Given the description of an element on the screen output the (x, y) to click on. 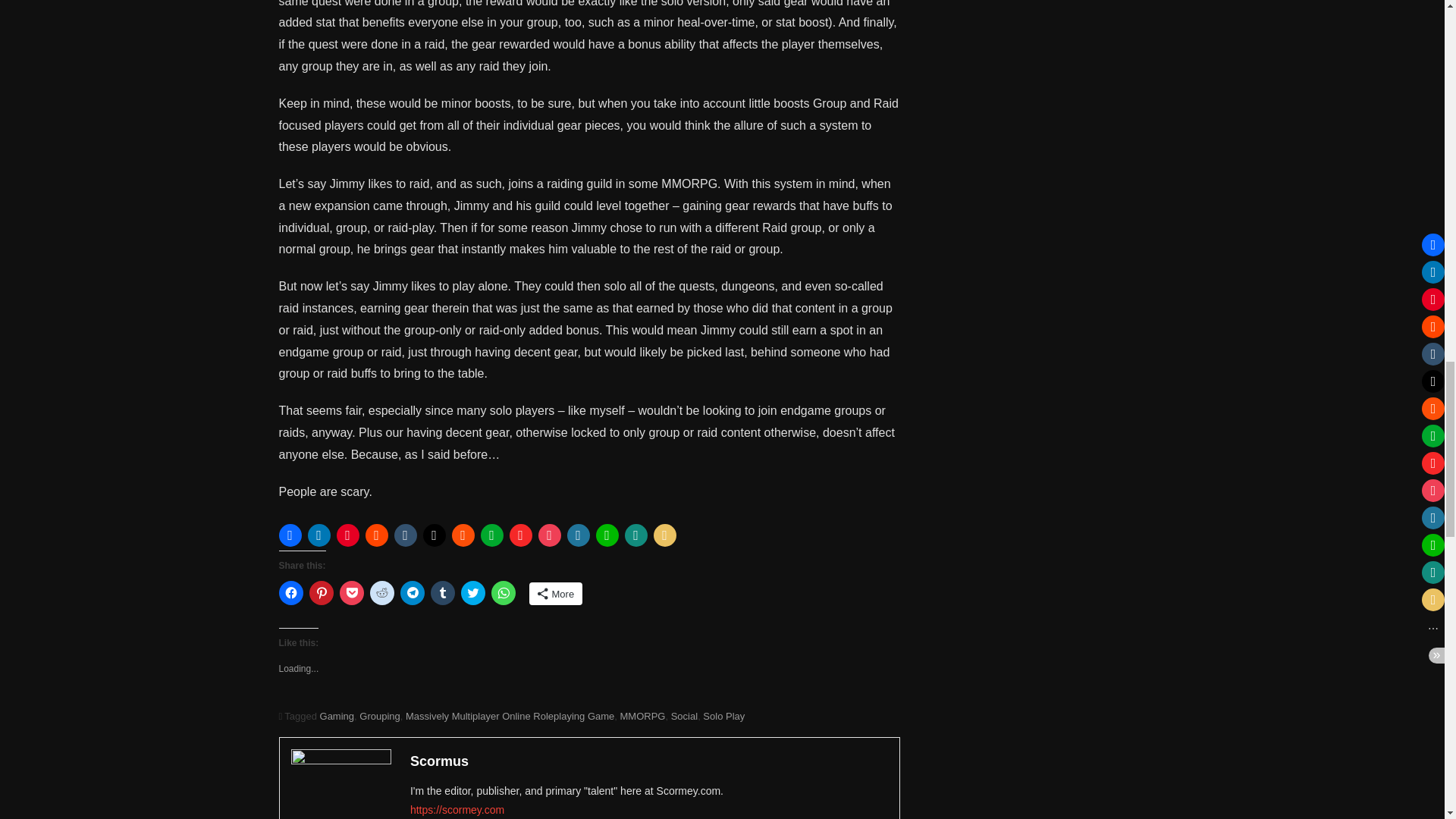
Massively Multiplayer Online Roleplaying Game (510, 715)
Social (684, 715)
Click to share on Reddit (381, 592)
Click to share on Twitter (472, 592)
Click to share on WhatsApp (503, 592)
More (556, 593)
Gaming (337, 715)
Click to share on Pocket (351, 592)
MMORPG (642, 715)
Click to share on Telegram (412, 592)
Click to share on Tumblr (442, 592)
Click to share on Facebook (290, 592)
Grouping (378, 715)
Click to share on Pinterest (320, 592)
